Given the description of an element on the screen output the (x, y) to click on. 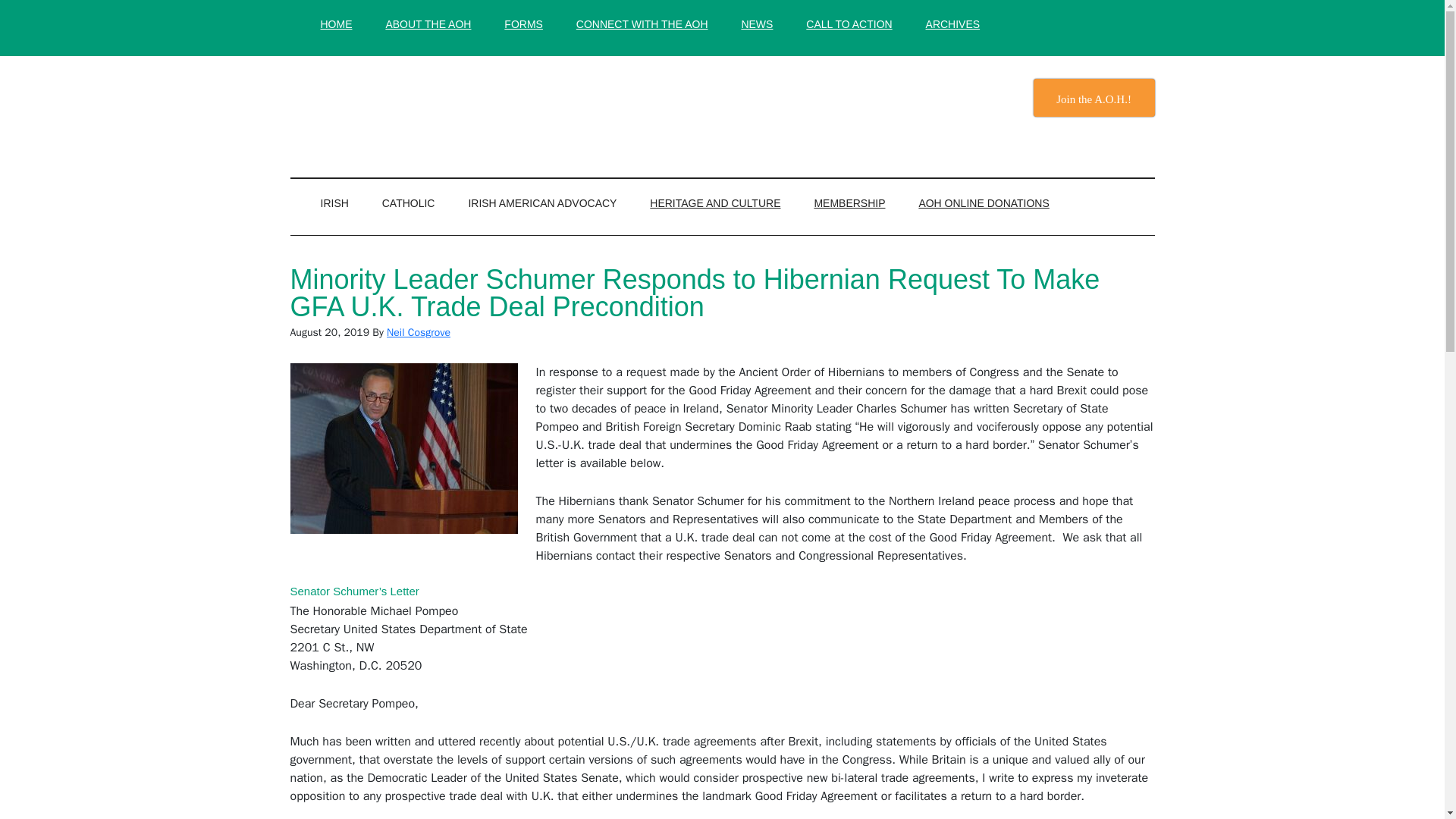
ABOUT THE AOH (427, 24)
FORMS (523, 24)
HOME (335, 24)
CONNECT WITH THE AOH (641, 24)
